Given the description of an element on the screen output the (x, y) to click on. 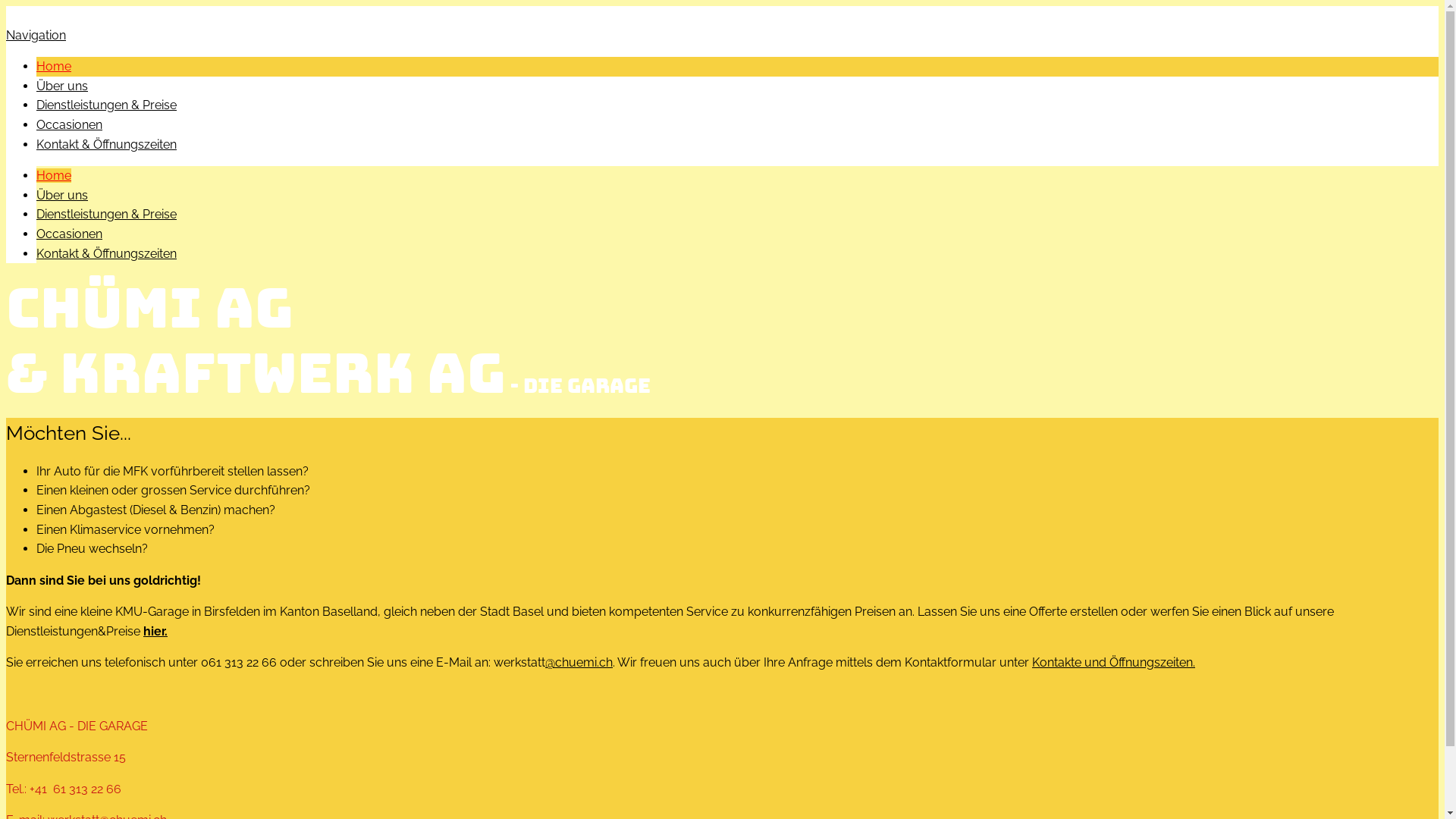
@chuemi.ch Element type: text (578, 662)
Navigation Element type: text (35, 35)
Dienstleistungen & Preise Element type: text (106, 214)
Occasionen Element type: text (69, 124)
Dienstleistungen & Preise Element type: text (106, 104)
Home Element type: text (53, 66)
Occasionen Element type: text (69, 233)
Home Element type: text (53, 175)
hier. Element type: text (155, 631)
